Given the description of an element on the screen output the (x, y) to click on. 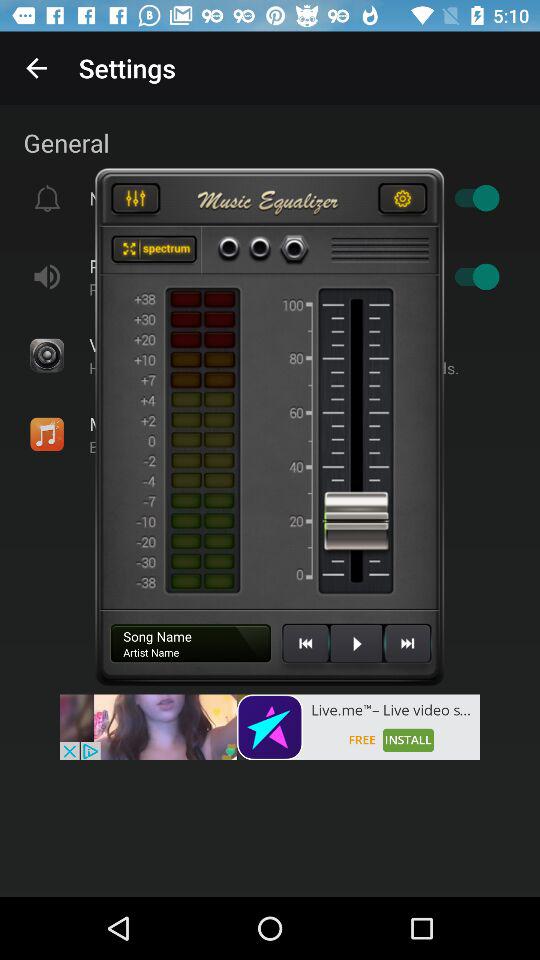
opens options (402, 201)
